Given the description of an element on the screen output the (x, y) to click on. 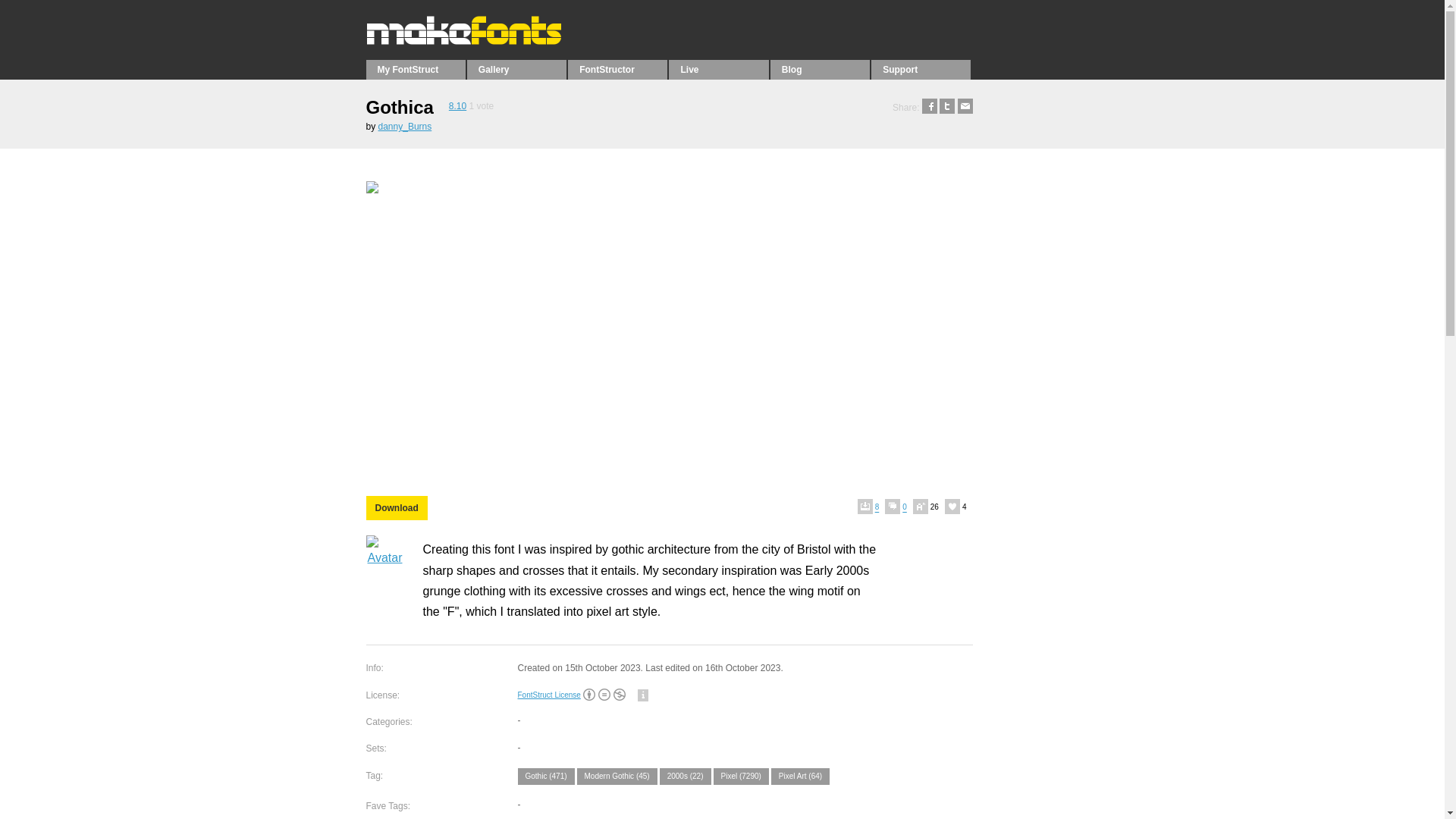
Share on Facebook (929, 107)
FontStruct (467, 41)
Email this to a friend (964, 107)
8 (871, 506)
FontStruct License (547, 694)
0 (898, 506)
My FontStruct (414, 69)
Support (920, 69)
FontStructor (616, 69)
Blog (819, 69)
8.10 (456, 105)
